Given the description of an element on the screen output the (x, y) to click on. 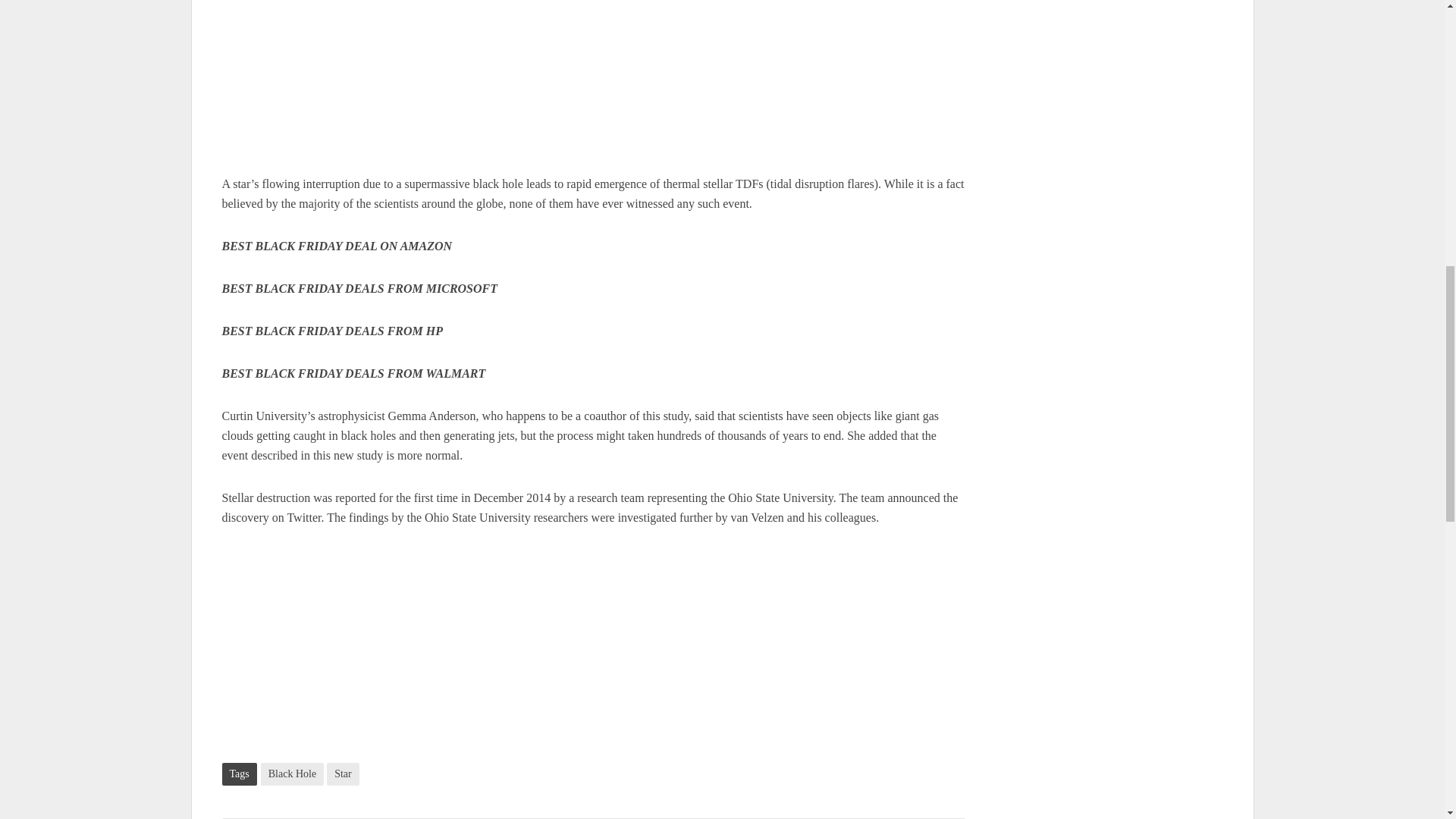
Star (342, 773)
Black Hole (291, 773)
